Given the description of an element on the screen output the (x, y) to click on. 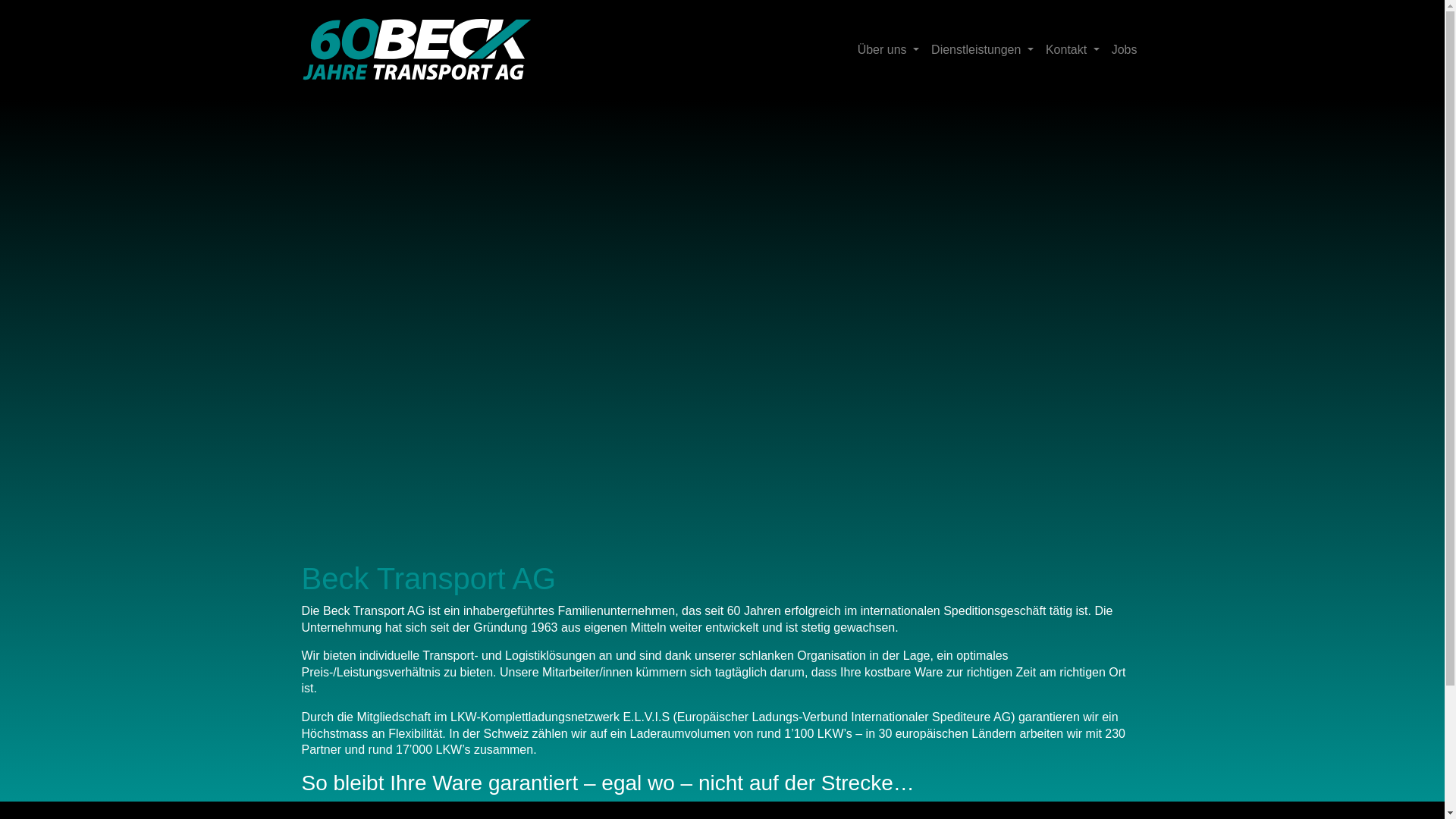
Kontakt Element type: text (1072, 49)
Dienstleistungen Element type: text (982, 49)
Jobs Element type: text (1124, 49)
